Given the description of an element on the screen output the (x, y) to click on. 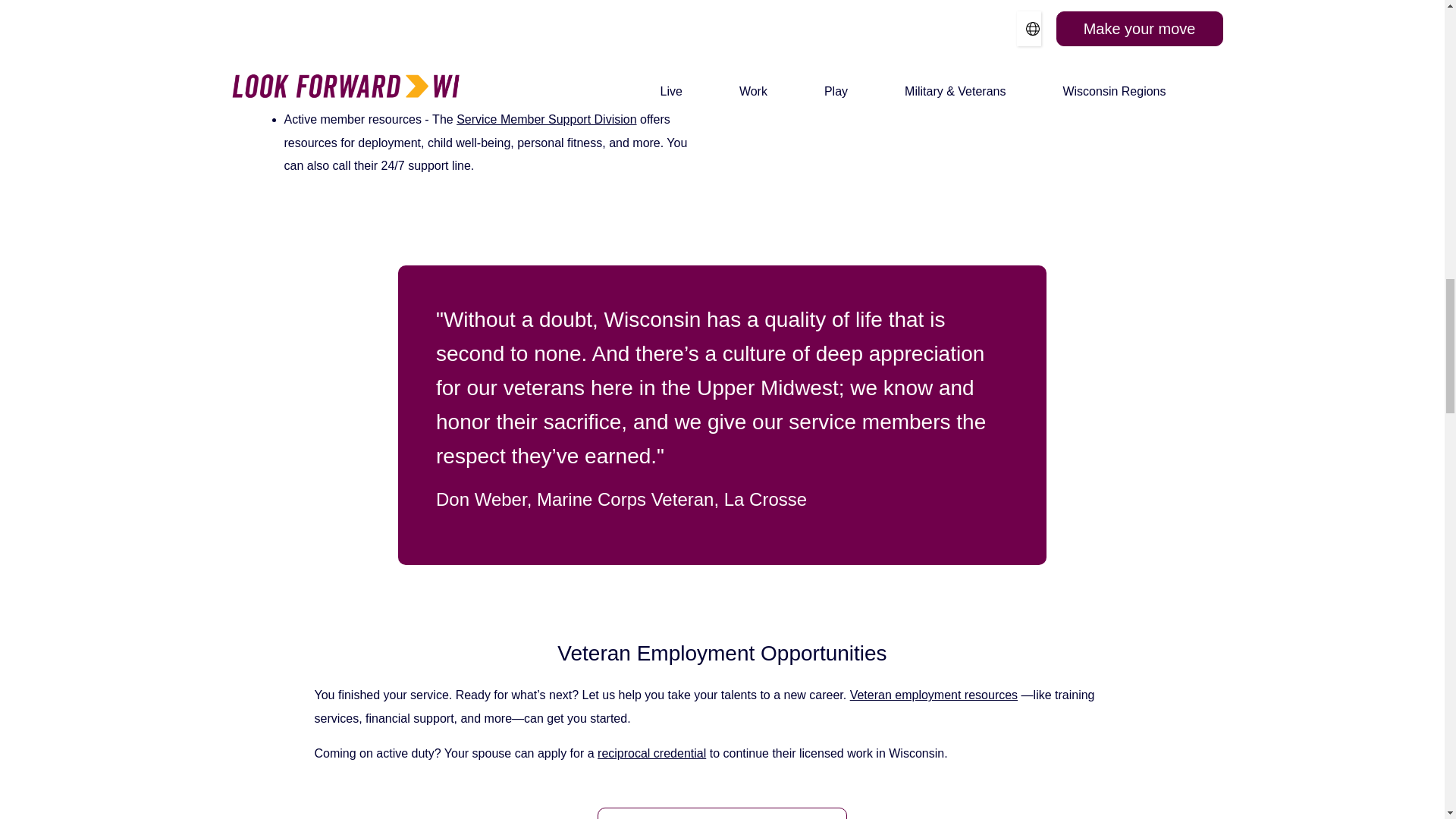
Service Member Support Division (546, 119)
Search Veteran Job Boards (721, 813)
reciprocal credential (651, 753)
Veteran employment resources (933, 694)
local, national, and federal resources (485, 54)
